Given the description of an element on the screen output the (x, y) to click on. 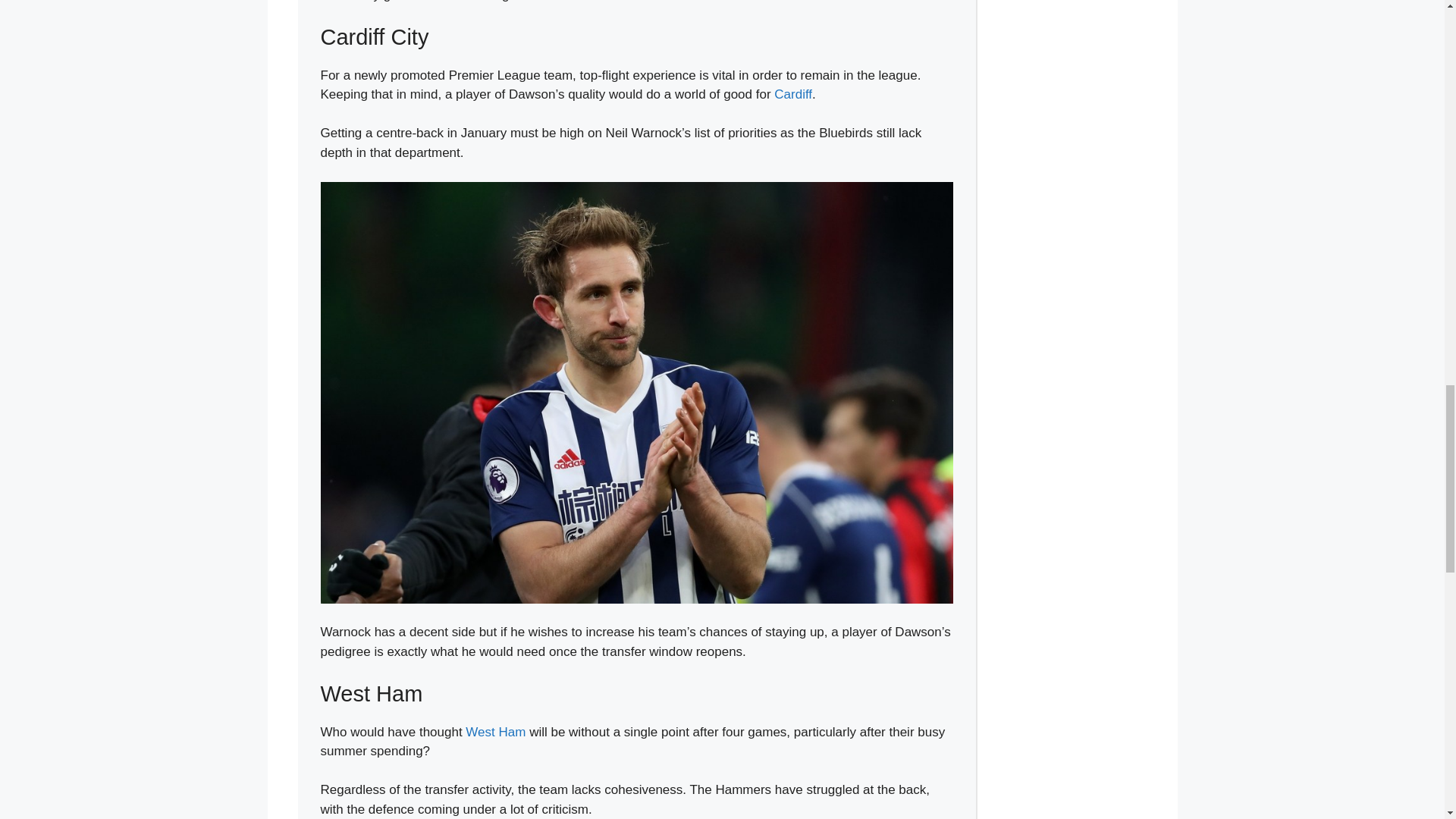
Cardiff (793, 93)
West Ham (495, 731)
